Given the description of an element on the screen output the (x, y) to click on. 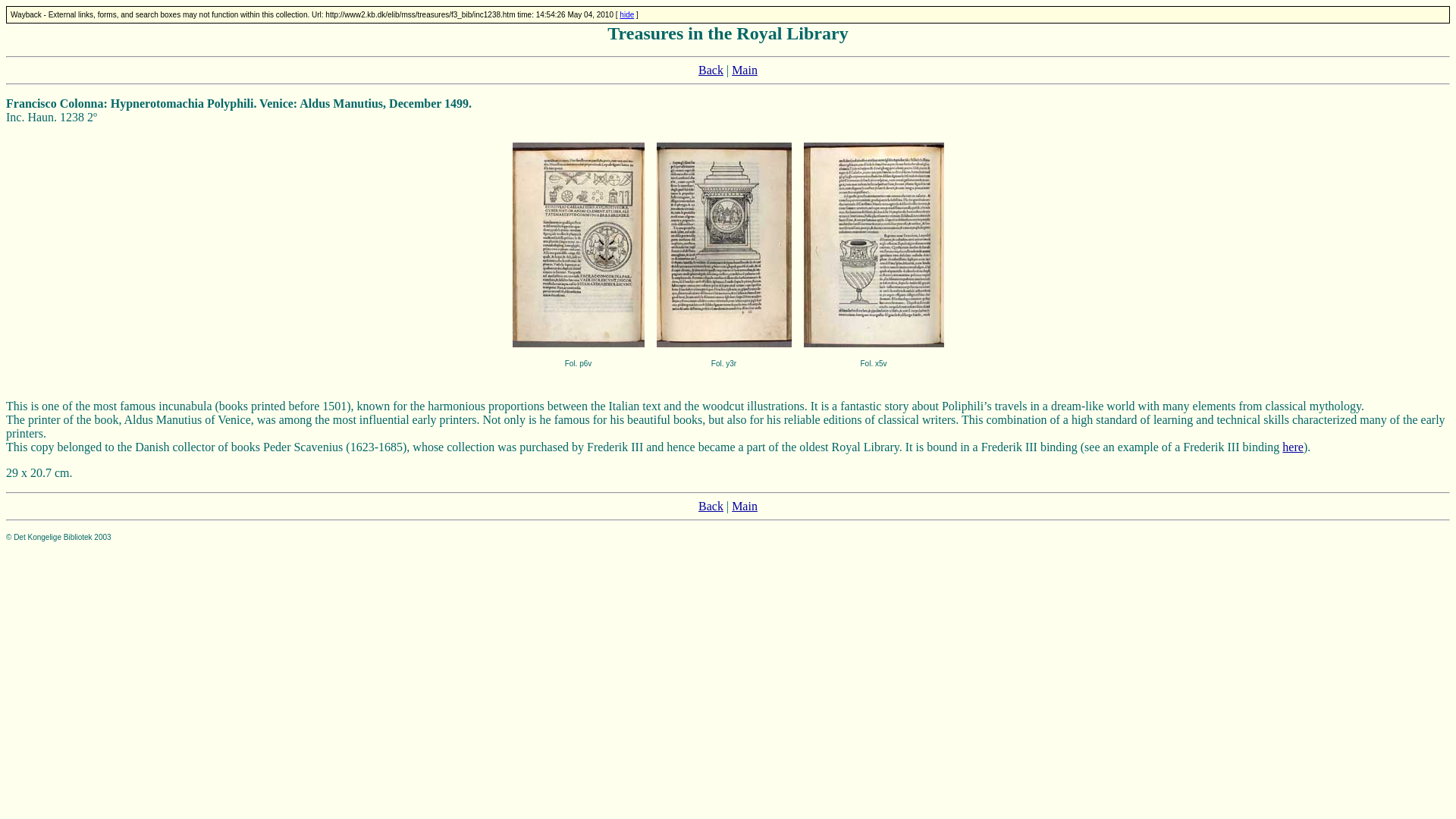
Back (710, 69)
Main (744, 69)
Back (710, 505)
here (1292, 446)
Main (744, 505)
hide (626, 14)
